Given the description of an element on the screen output the (x, y) to click on. 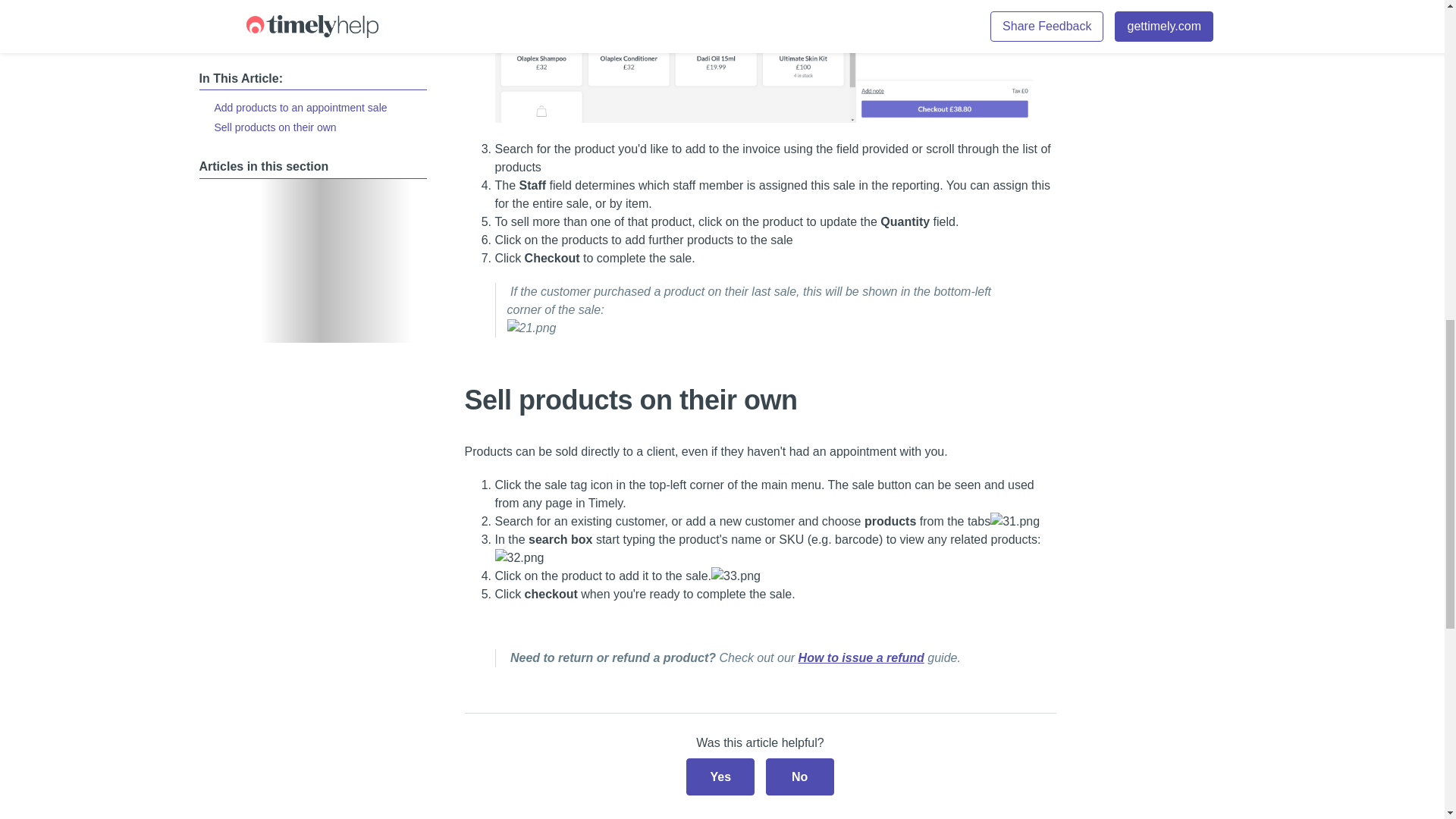
Yes (719, 776)
No (799, 776)
How to issue a refund (860, 657)
